Given the description of an element on the screen output the (x, y) to click on. 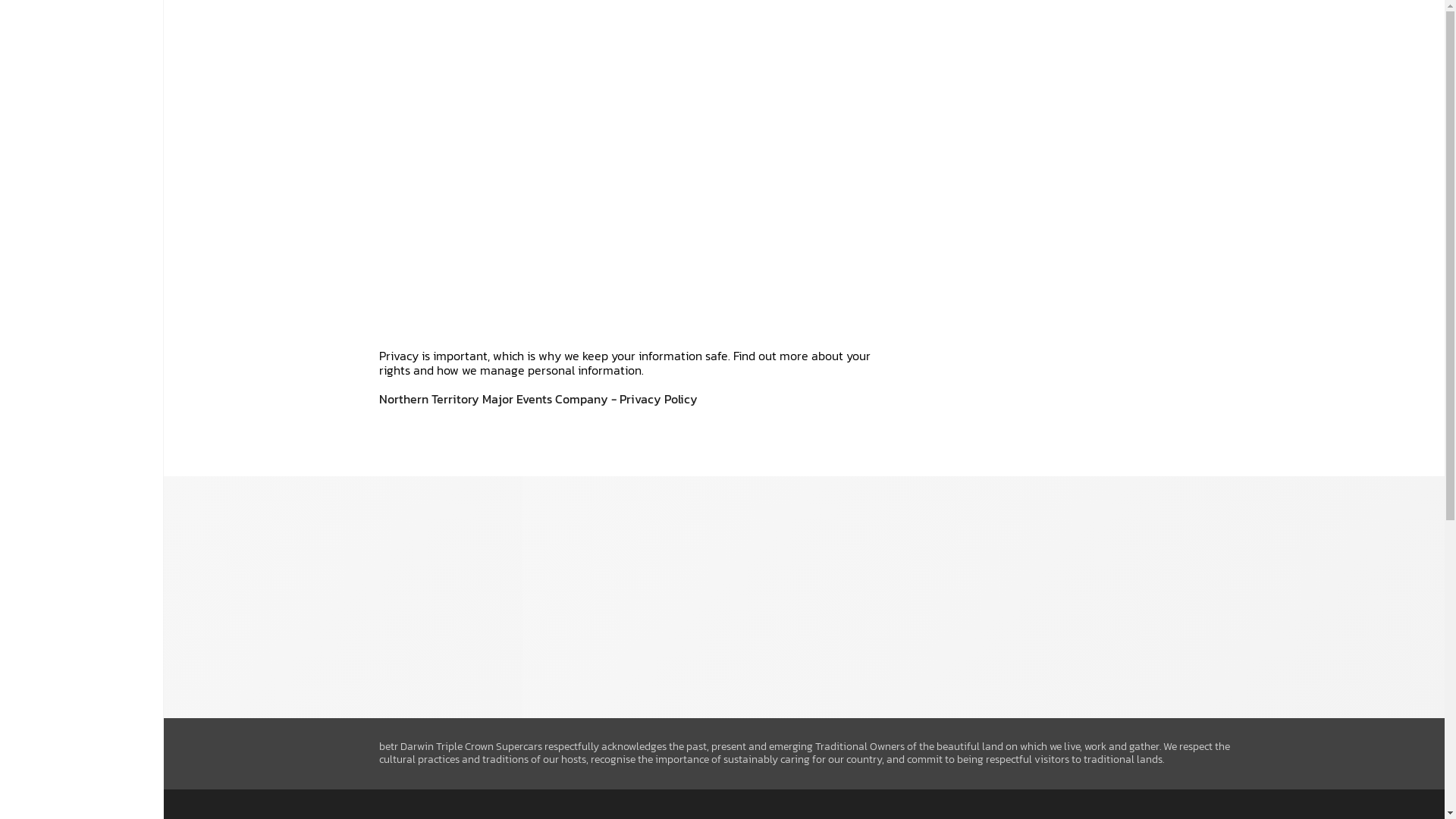
Northern Territory Major Events Company - Privacy Policy Element type: text (538, 398)
